Given the description of an element on the screen output the (x, y) to click on. 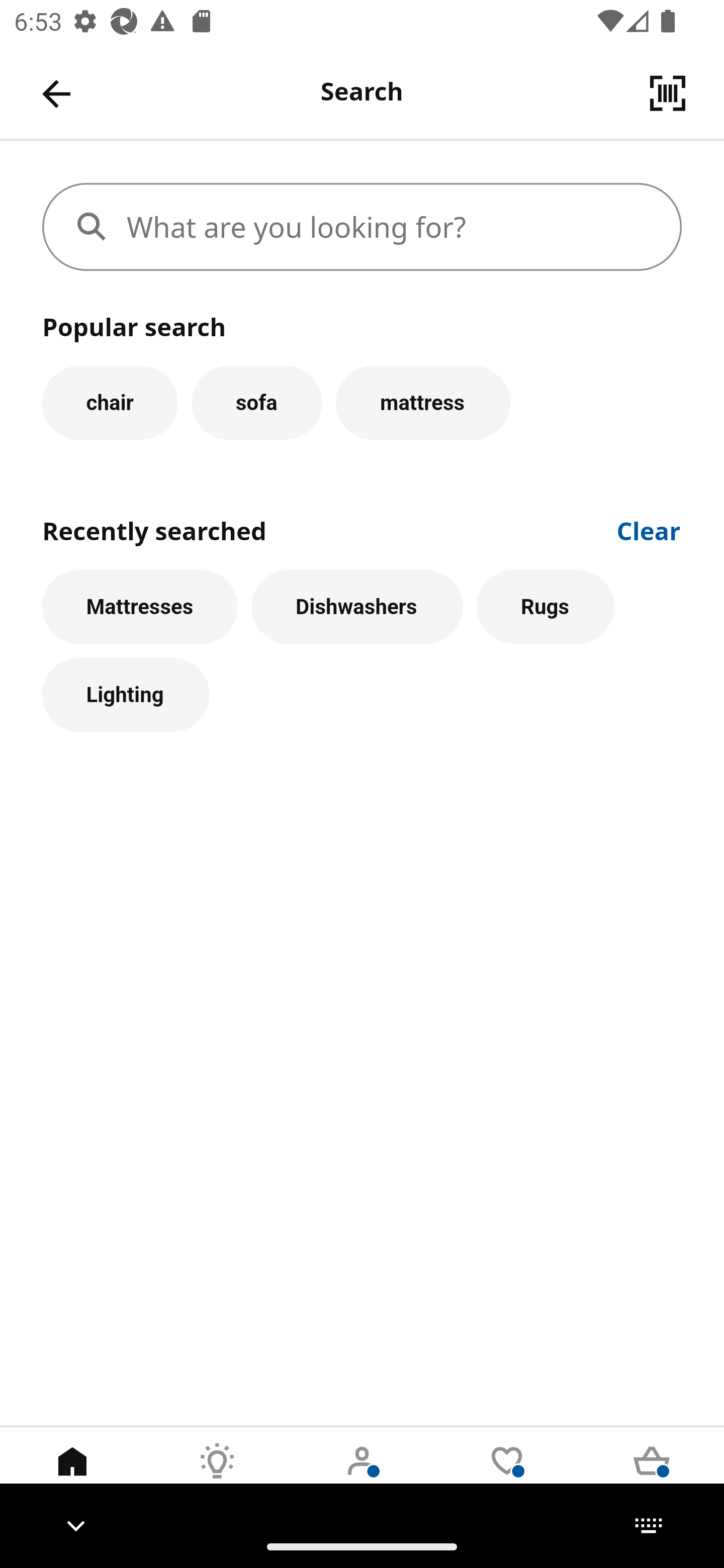
chair (109, 402)
sofa (256, 402)
mattress (423, 402)
Clear (649, 528)
Mattresses (139, 606)
Dishwashers (357, 606)
Rugs (545, 606)
Lighting (125, 695)
Home
Tab 1 of 5 (72, 1476)
Inspirations
Tab 2 of 5 (216, 1476)
User
Tab 3 of 5 (361, 1476)
Wishlist
Tab 4 of 5 (506, 1476)
Cart
Tab 5 of 5 (651, 1476)
